Given the description of an element on the screen output the (x, y) to click on. 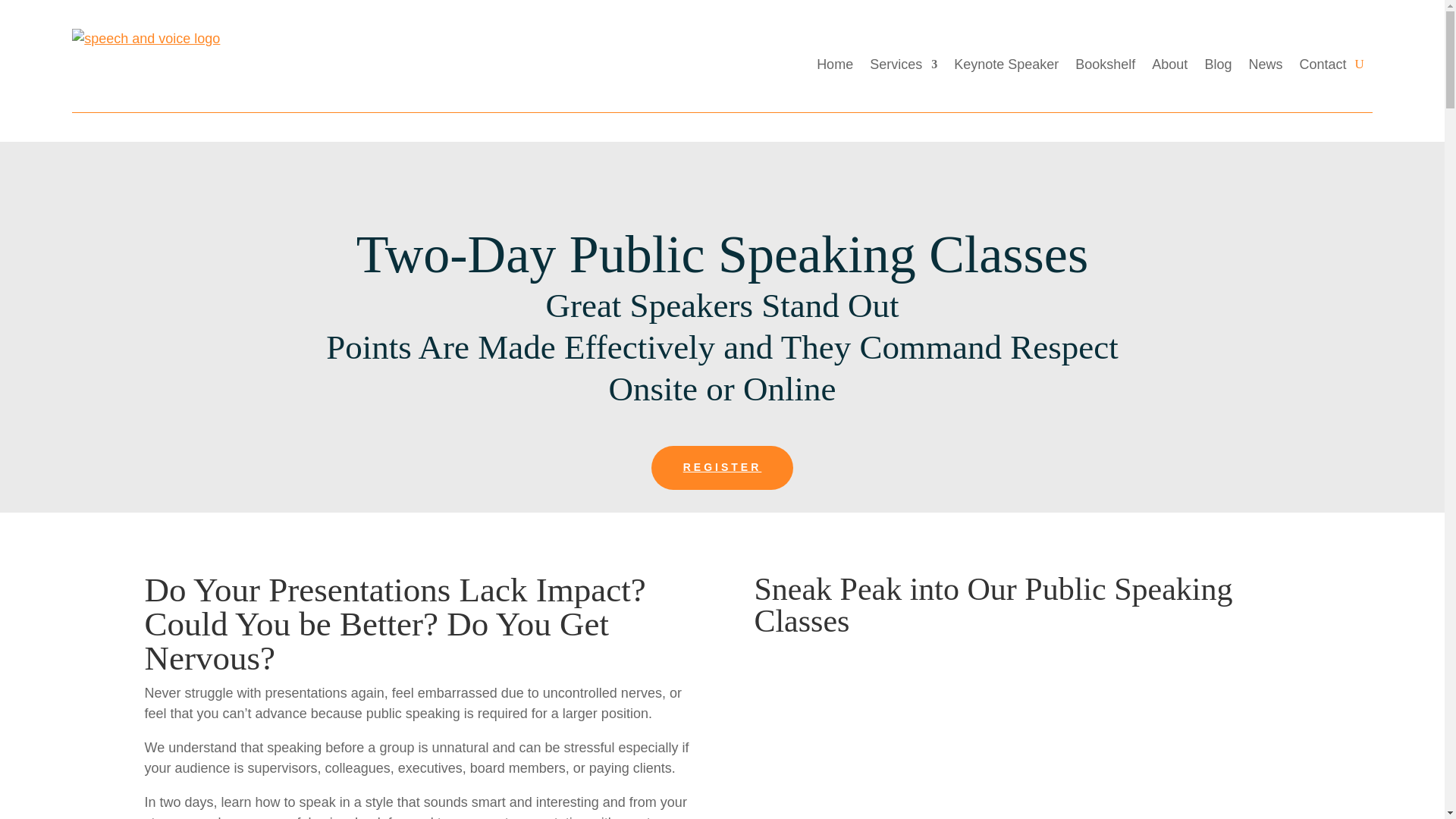
REGISTER (721, 467)
Bookshelf (1105, 64)
Services (903, 64)
Keynote Speaker (1005, 64)
